Given the description of an element on the screen output the (x, y) to click on. 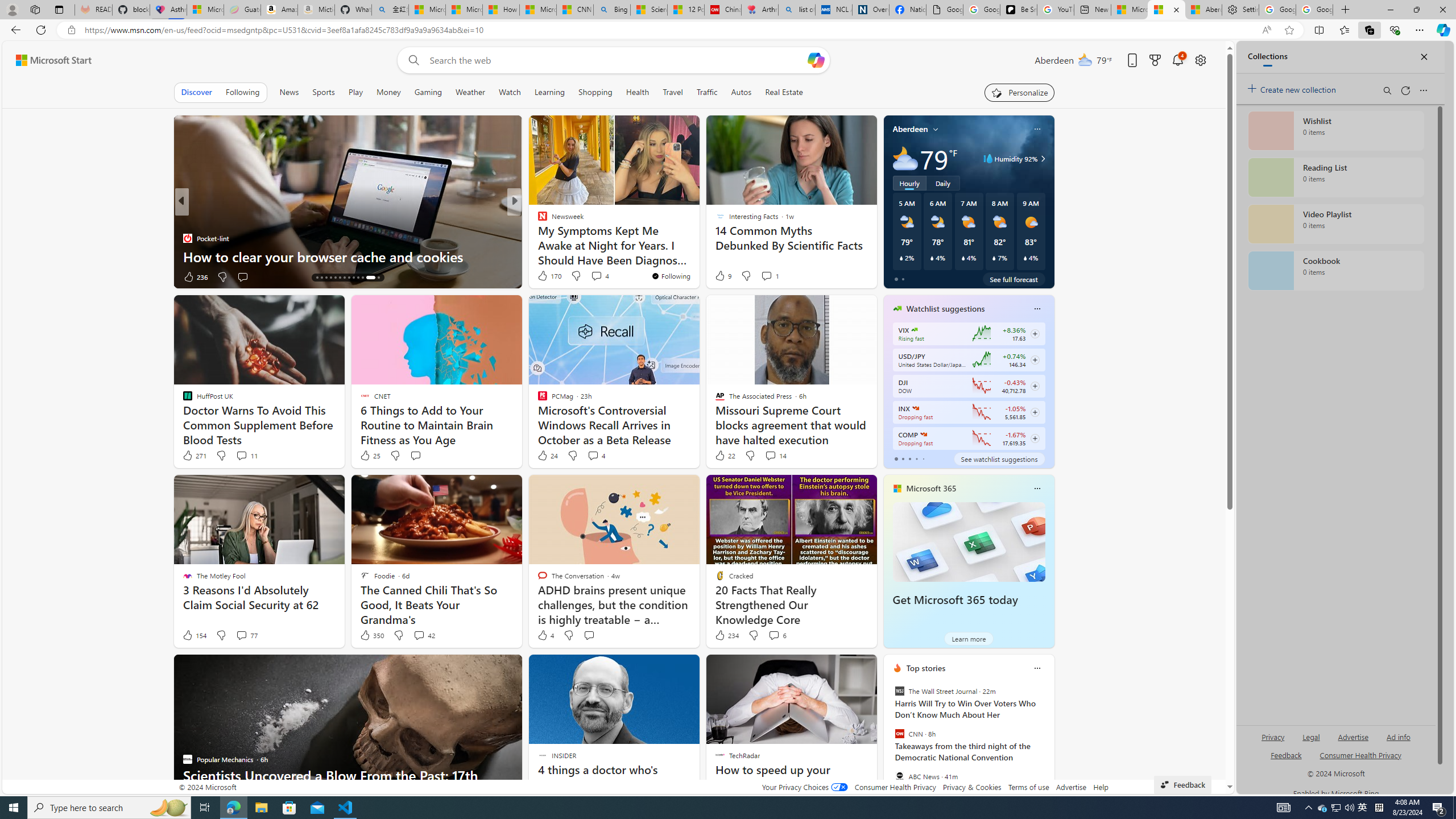
Asthma Inhalers: Names and Types (168, 9)
View comments 4 Comment (596, 455)
S&P 500 (914, 407)
Play (355, 92)
tab-0 (895, 458)
Watch (509, 92)
Health (637, 92)
Travel (672, 92)
Daily (942, 183)
AutomationID: tab-24 (362, 277)
Notifications (1177, 60)
